Given the description of an element on the screen output the (x, y) to click on. 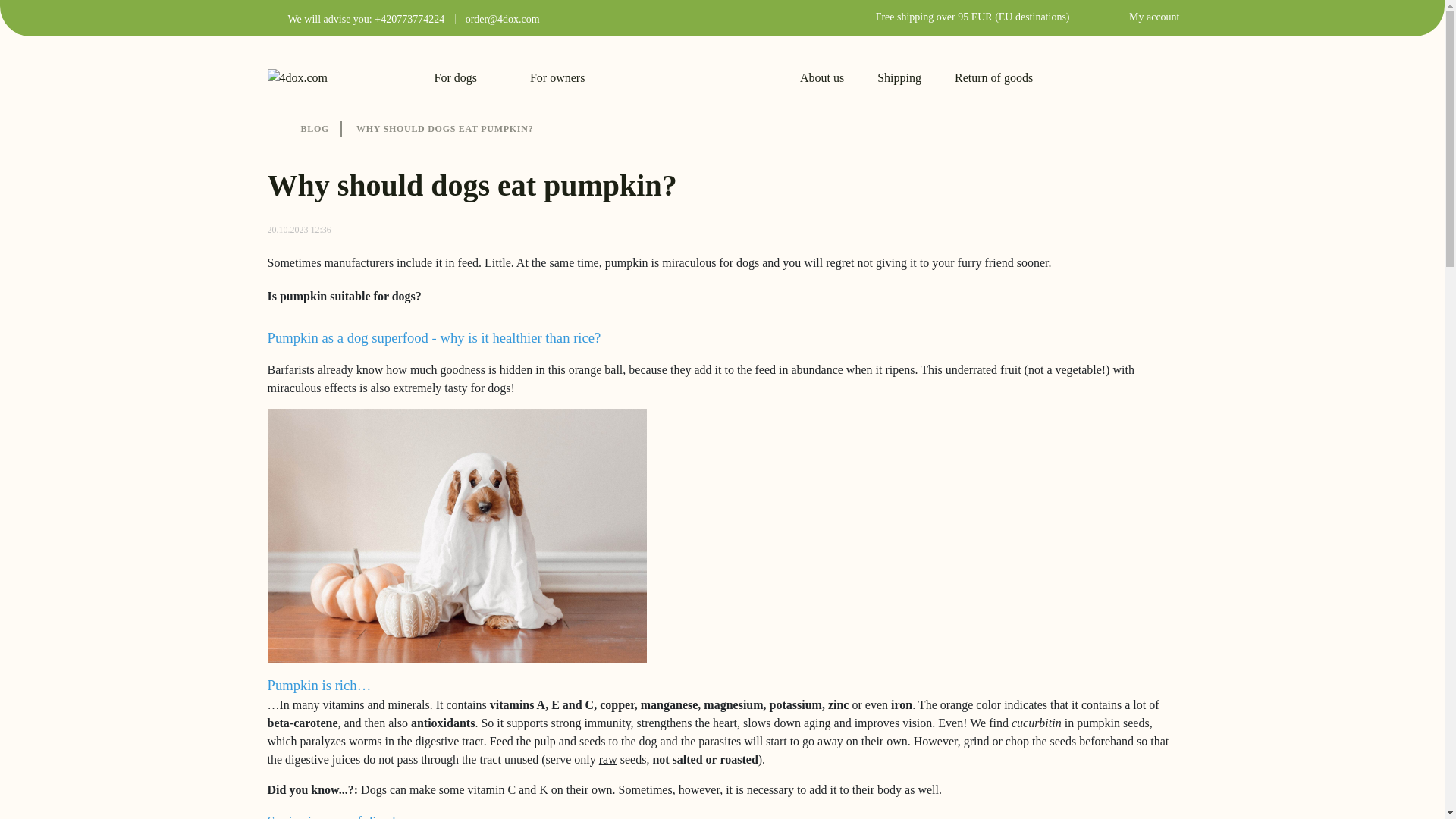
For owners (566, 75)
Shipping (899, 77)
About us (821, 77)
For dogs (464, 75)
My account (1140, 16)
Return of goods (993, 77)
